Given the description of an element on the screen output the (x, y) to click on. 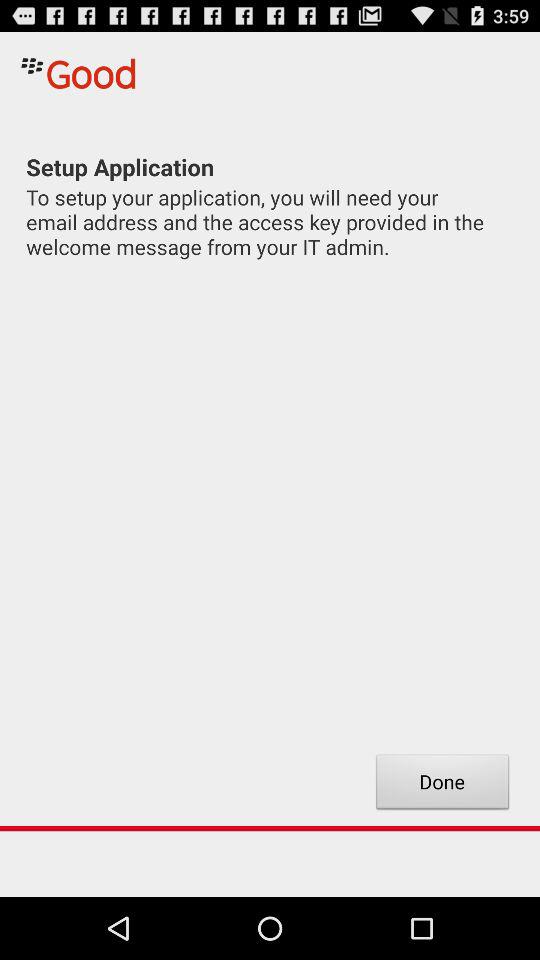
flip to the done button (442, 784)
